Given the description of an element on the screen output the (x, y) to click on. 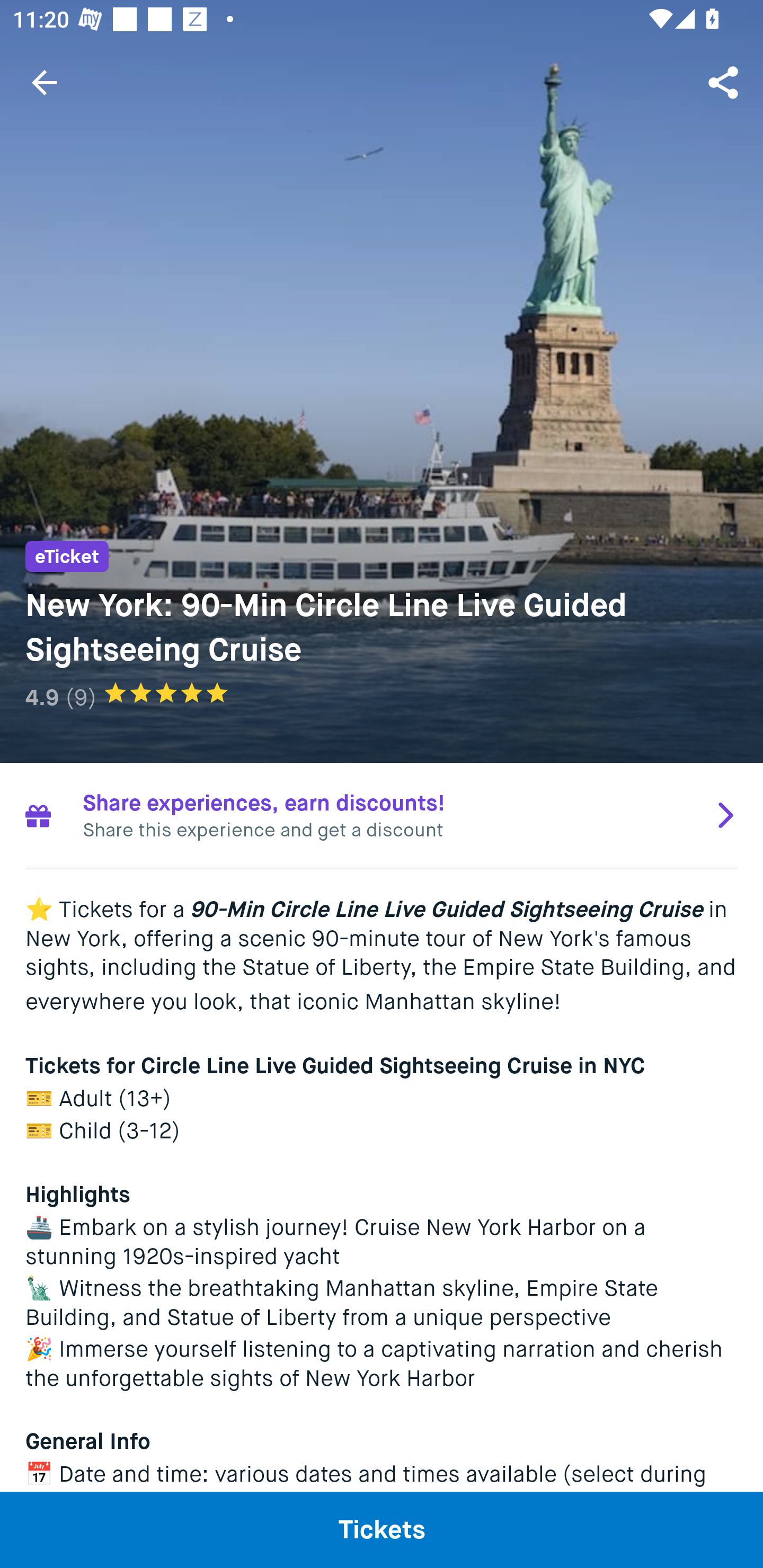
Navigate up (44, 82)
Share (724, 81)
(9) (80, 697)
Tickets (381, 1529)
